Given the description of an element on the screen output the (x, y) to click on. 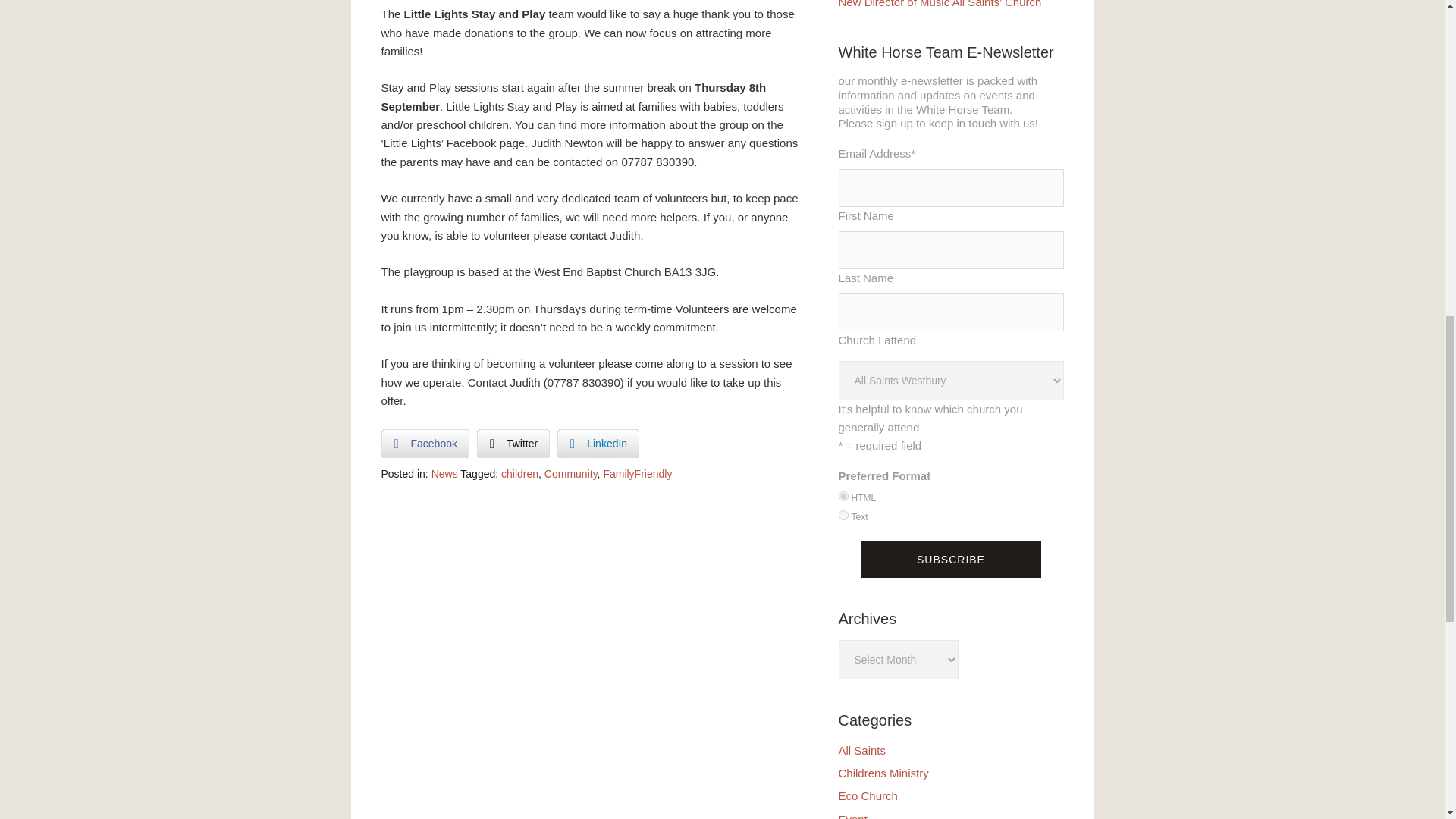
text (843, 515)
Subscribe (950, 559)
html (843, 496)
